Given the description of an element on the screen output the (x, y) to click on. 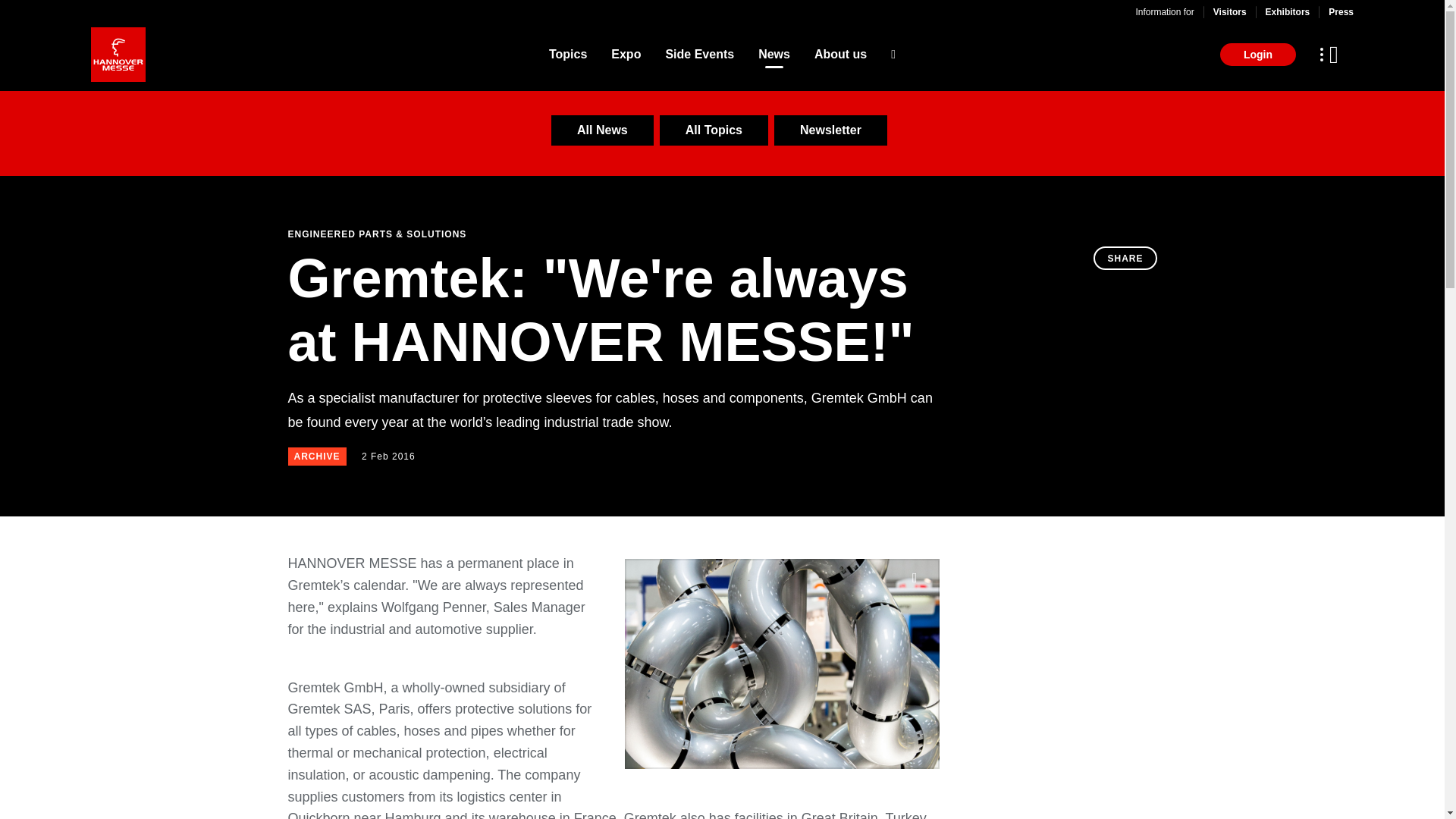
All Topics (713, 130)
News (774, 54)
Exhibitors (1287, 11)
Newsletter (830, 130)
All News (602, 130)
Expo (625, 54)
About us (839, 54)
Login (1257, 54)
Topics (567, 54)
Visitors (1229, 11)
